Given the description of an element on the screen output the (x, y) to click on. 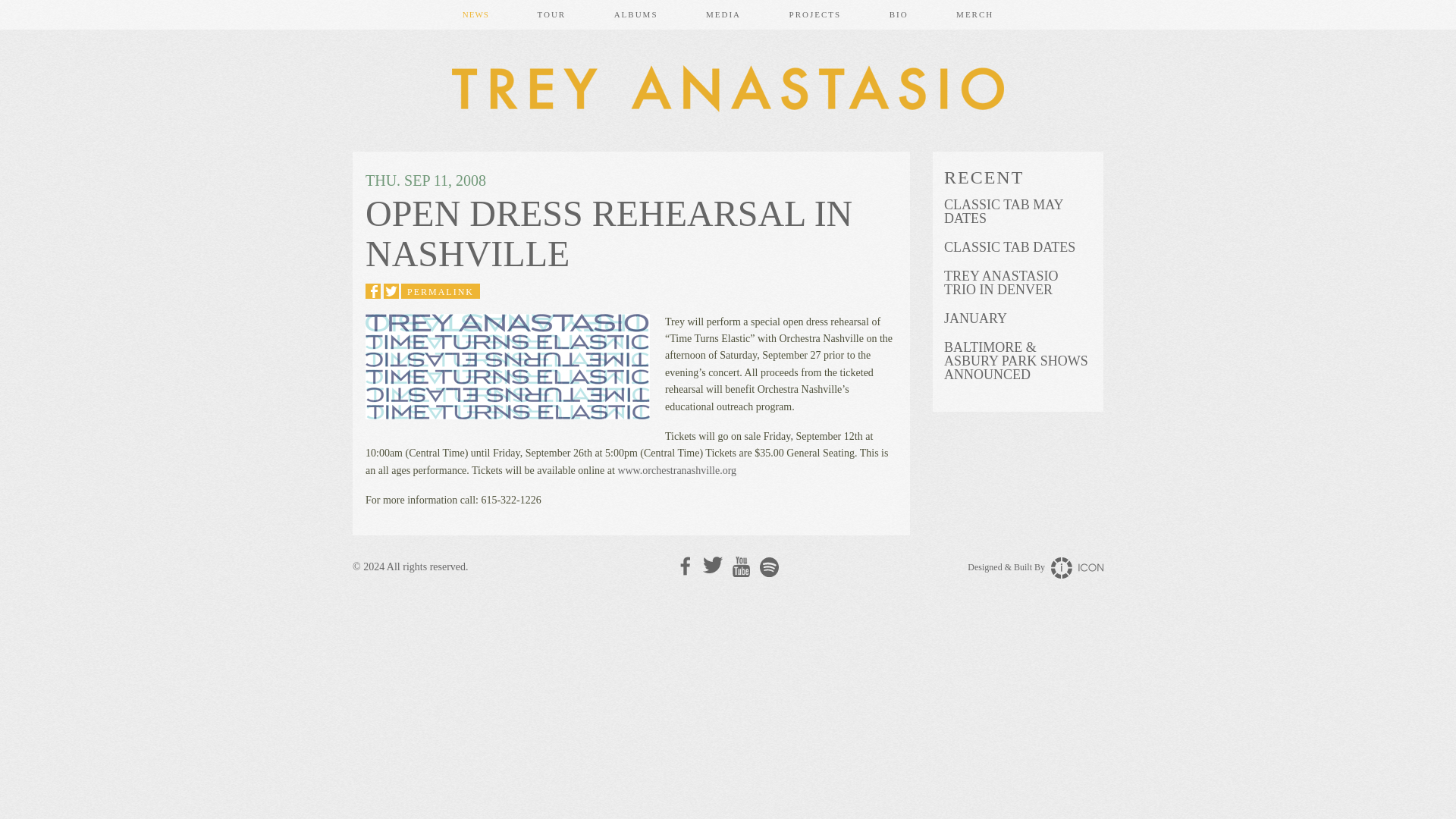
SHARE (372, 290)
CLASSIC TAB DATES (1017, 246)
Twitter (713, 565)
JANUARY (1017, 318)
MERCH (974, 14)
NEWS (475, 14)
YouTube (740, 567)
ALBUMS (636, 14)
Spotify (768, 566)
PROJECTS (815, 14)
BIO (898, 14)
CLASSIC TAB MAY DATES (1017, 211)
MEDIA (722, 14)
www.orchestranashville.org (676, 470)
